Given the description of an element on the screen output the (x, y) to click on. 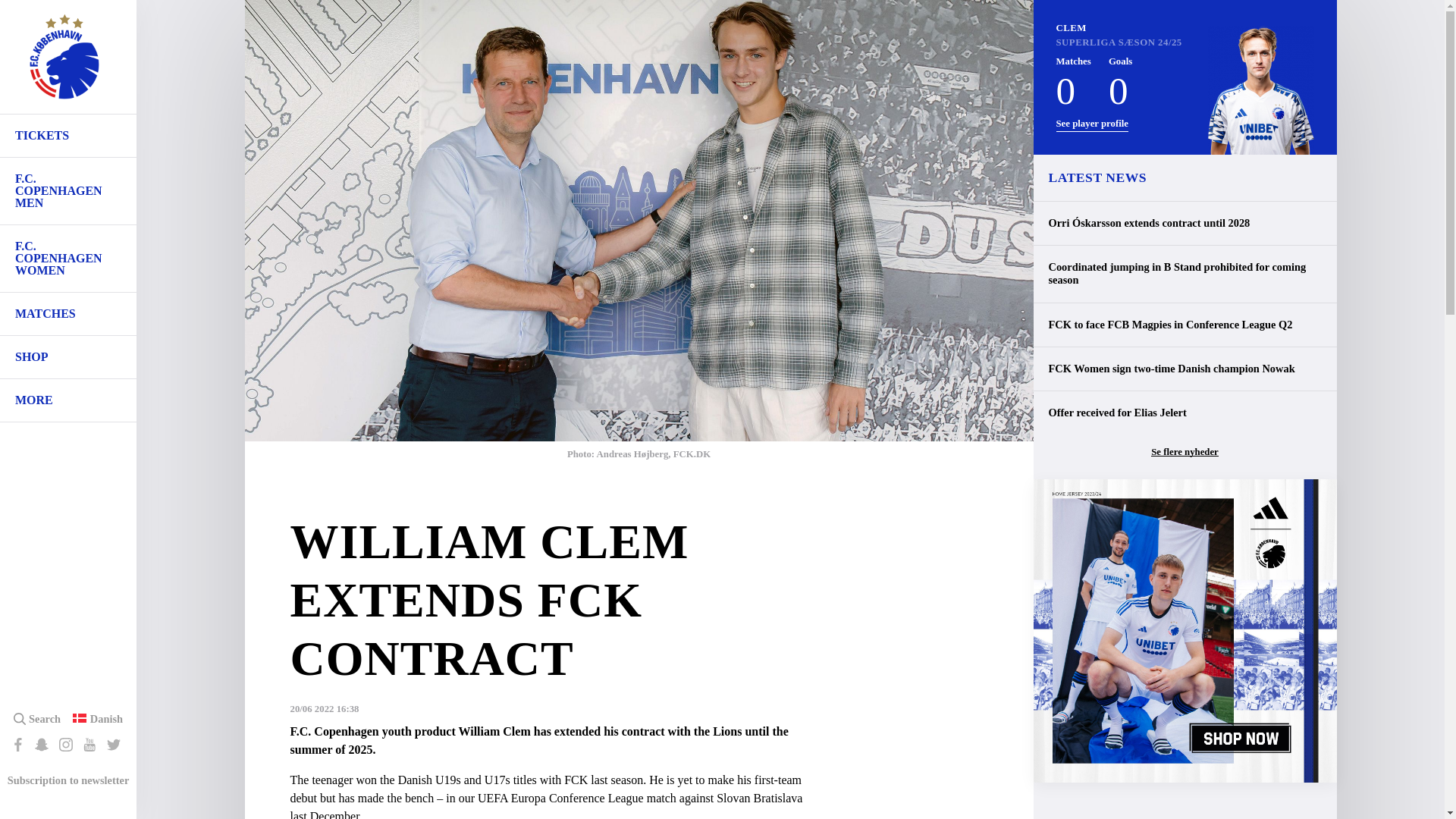
F.C. COPENHAGEN WOMEN (68, 258)
F.C. Copenhagen Women (68, 258)
TICKETS (68, 135)
FCK Fanshop (68, 356)
MATCHES (68, 313)
First team matches (68, 313)
Danish (106, 718)
Home (63, 64)
Subscription to newsletter (68, 780)
MORE (68, 400)
See player profile (1091, 124)
Tickets (68, 135)
SHOP (68, 356)
